Given the description of an element on the screen output the (x, y) to click on. 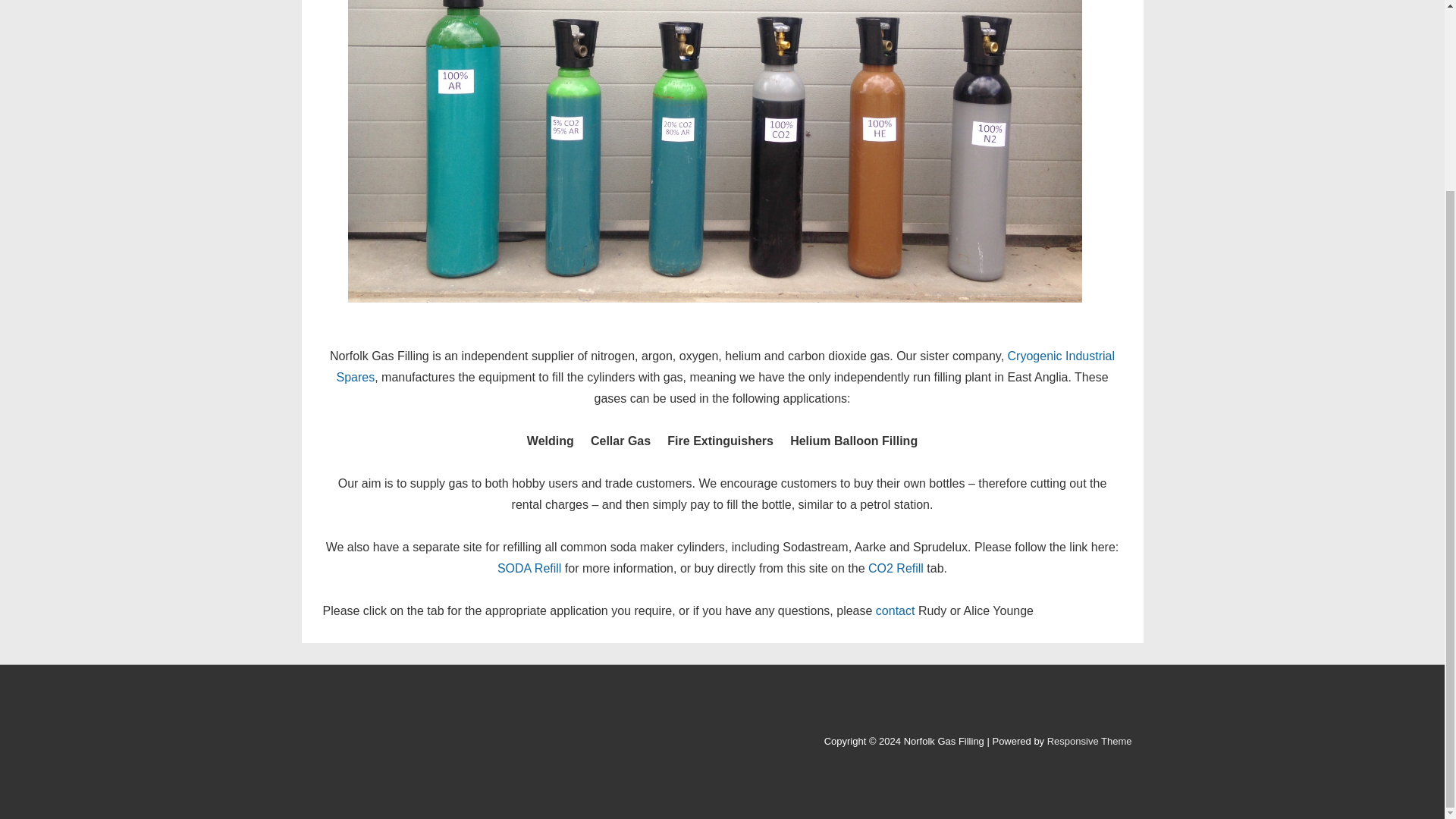
CO2 Refill (895, 567)
Responsive Theme (1089, 740)
Contact (895, 610)
contact (895, 610)
Cryogenic Industrial Spares (725, 366)
SODA Refill (528, 567)
